Given the description of an element on the screen output the (x, y) to click on. 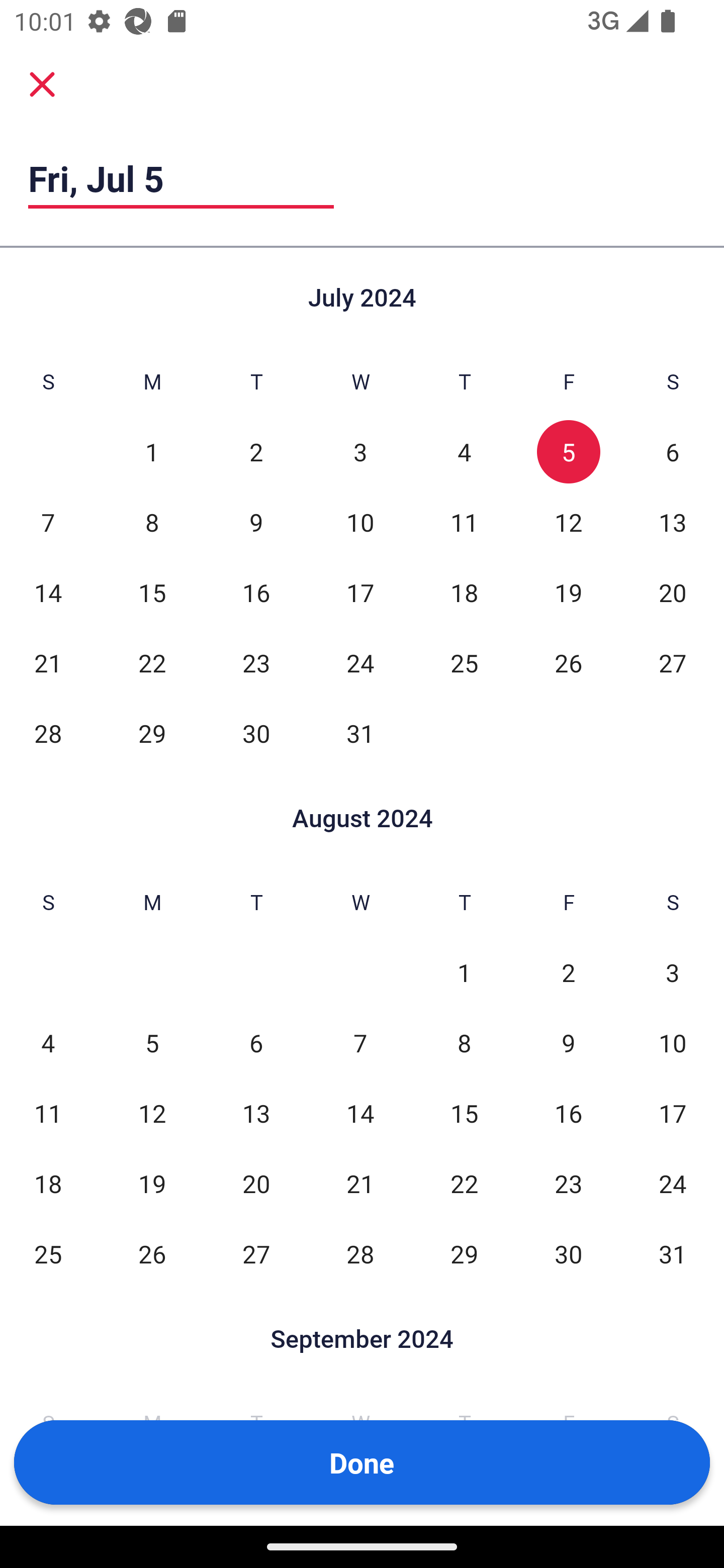
Cancel (41, 83)
Fri, Jul 5 (180, 178)
1 Mon, Jul 1, Not Selected (152, 452)
2 Tue, Jul 2, Not Selected (256, 452)
3 Wed, Jul 3, Not Selected (360, 452)
4 Thu, Jul 4, Not Selected (464, 452)
5 Fri, Jul 5, Selected (568, 452)
6 Sat, Jul 6, Not Selected (672, 452)
7 Sun, Jul 7, Not Selected (48, 521)
8 Mon, Jul 8, Not Selected (152, 521)
9 Tue, Jul 9, Not Selected (256, 521)
10 Wed, Jul 10, Not Selected (360, 521)
11 Thu, Jul 11, Not Selected (464, 521)
12 Fri, Jul 12, Not Selected (568, 521)
13 Sat, Jul 13, Not Selected (672, 521)
14 Sun, Jul 14, Not Selected (48, 591)
15 Mon, Jul 15, Not Selected (152, 591)
16 Tue, Jul 16, Not Selected (256, 591)
17 Wed, Jul 17, Not Selected (360, 591)
18 Thu, Jul 18, Not Selected (464, 591)
19 Fri, Jul 19, Not Selected (568, 591)
20 Sat, Jul 20, Not Selected (672, 591)
21 Sun, Jul 21, Not Selected (48, 662)
22 Mon, Jul 22, Not Selected (152, 662)
23 Tue, Jul 23, Not Selected (256, 662)
24 Wed, Jul 24, Not Selected (360, 662)
25 Thu, Jul 25, Not Selected (464, 662)
26 Fri, Jul 26, Not Selected (568, 662)
27 Sat, Jul 27, Not Selected (672, 662)
28 Sun, Jul 28, Not Selected (48, 732)
29 Mon, Jul 29, Not Selected (152, 732)
30 Tue, Jul 30, Not Selected (256, 732)
31 Wed, Jul 31, Not Selected (360, 732)
1 Thu, Aug 1, Not Selected (464, 972)
2 Fri, Aug 2, Not Selected (568, 972)
3 Sat, Aug 3, Not Selected (672, 972)
4 Sun, Aug 4, Not Selected (48, 1043)
5 Mon, Aug 5, Not Selected (152, 1043)
6 Tue, Aug 6, Not Selected (256, 1043)
7 Wed, Aug 7, Not Selected (360, 1043)
8 Thu, Aug 8, Not Selected (464, 1043)
9 Fri, Aug 9, Not Selected (568, 1043)
10 Sat, Aug 10, Not Selected (672, 1043)
11 Sun, Aug 11, Not Selected (48, 1112)
12 Mon, Aug 12, Not Selected (152, 1112)
13 Tue, Aug 13, Not Selected (256, 1112)
14 Wed, Aug 14, Not Selected (360, 1112)
15 Thu, Aug 15, Not Selected (464, 1112)
16 Fri, Aug 16, Not Selected (568, 1112)
17 Sat, Aug 17, Not Selected (672, 1112)
18 Sun, Aug 18, Not Selected (48, 1182)
19 Mon, Aug 19, Not Selected (152, 1182)
20 Tue, Aug 20, Not Selected (256, 1182)
21 Wed, Aug 21, Not Selected (360, 1182)
22 Thu, Aug 22, Not Selected (464, 1182)
23 Fri, Aug 23, Not Selected (568, 1182)
24 Sat, Aug 24, Not Selected (672, 1182)
25 Sun, Aug 25, Not Selected (48, 1253)
26 Mon, Aug 26, Not Selected (152, 1253)
27 Tue, Aug 27, Not Selected (256, 1253)
28 Wed, Aug 28, Not Selected (360, 1253)
29 Thu, Aug 29, Not Selected (464, 1253)
30 Fri, Aug 30, Not Selected (568, 1253)
31 Sat, Aug 31, Not Selected (672, 1253)
Done Button Done (361, 1462)
